Given the description of an element on the screen output the (x, y) to click on. 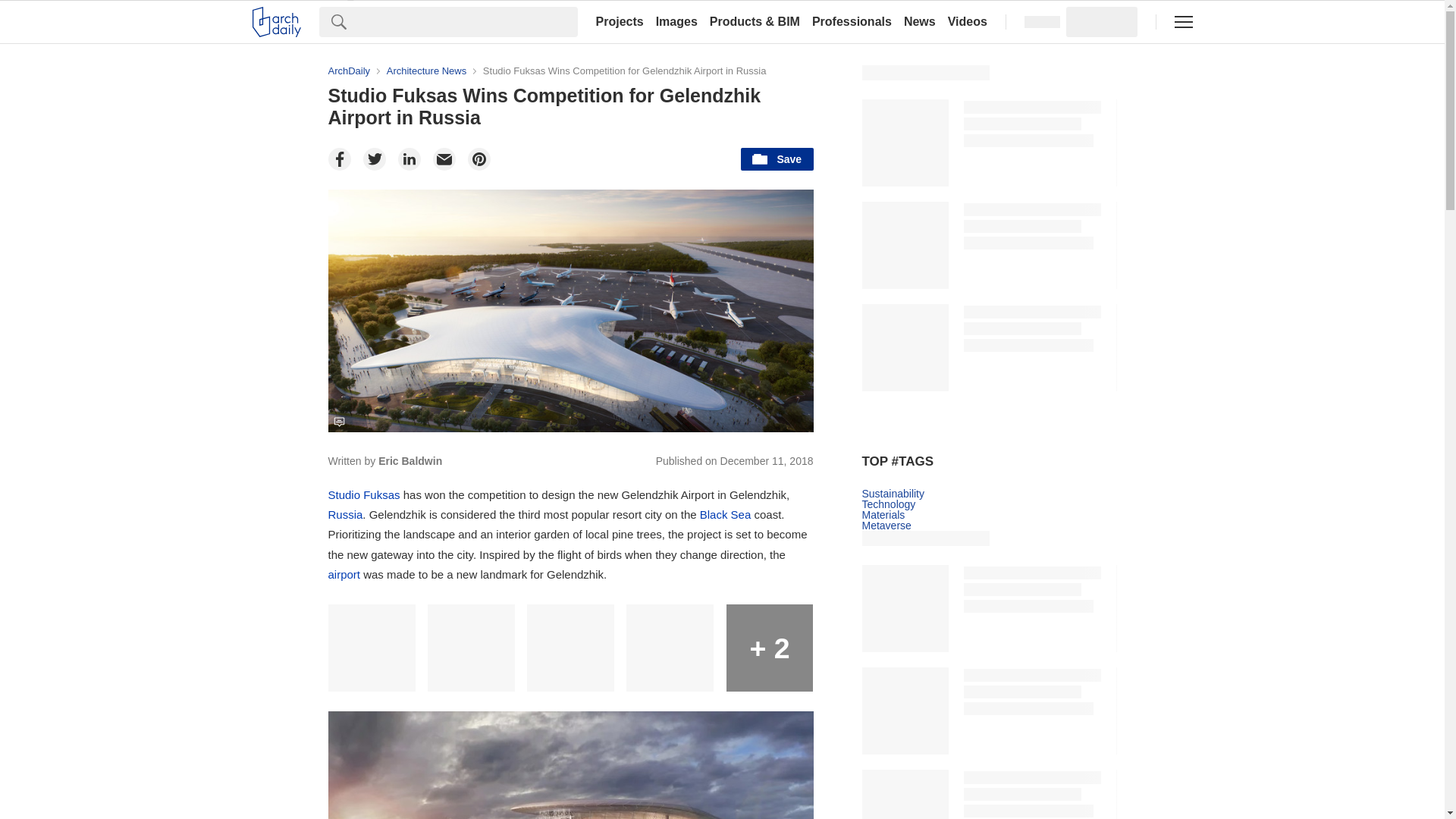
News (920, 21)
Projects (619, 21)
Images (676, 21)
Professionals (852, 21)
Videos (967, 21)
